Given the description of an element on the screen output the (x, y) to click on. 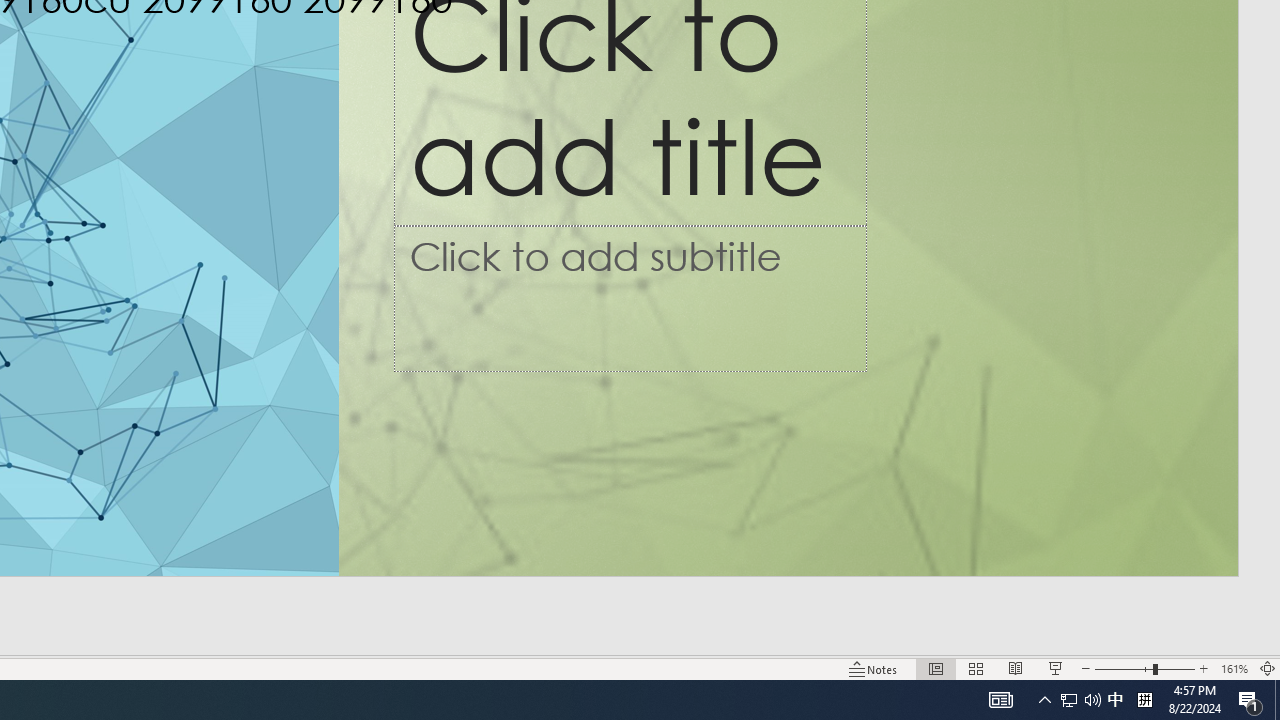
Zoom 161% (1234, 668)
